Given the description of an element on the screen output the (x, y) to click on. 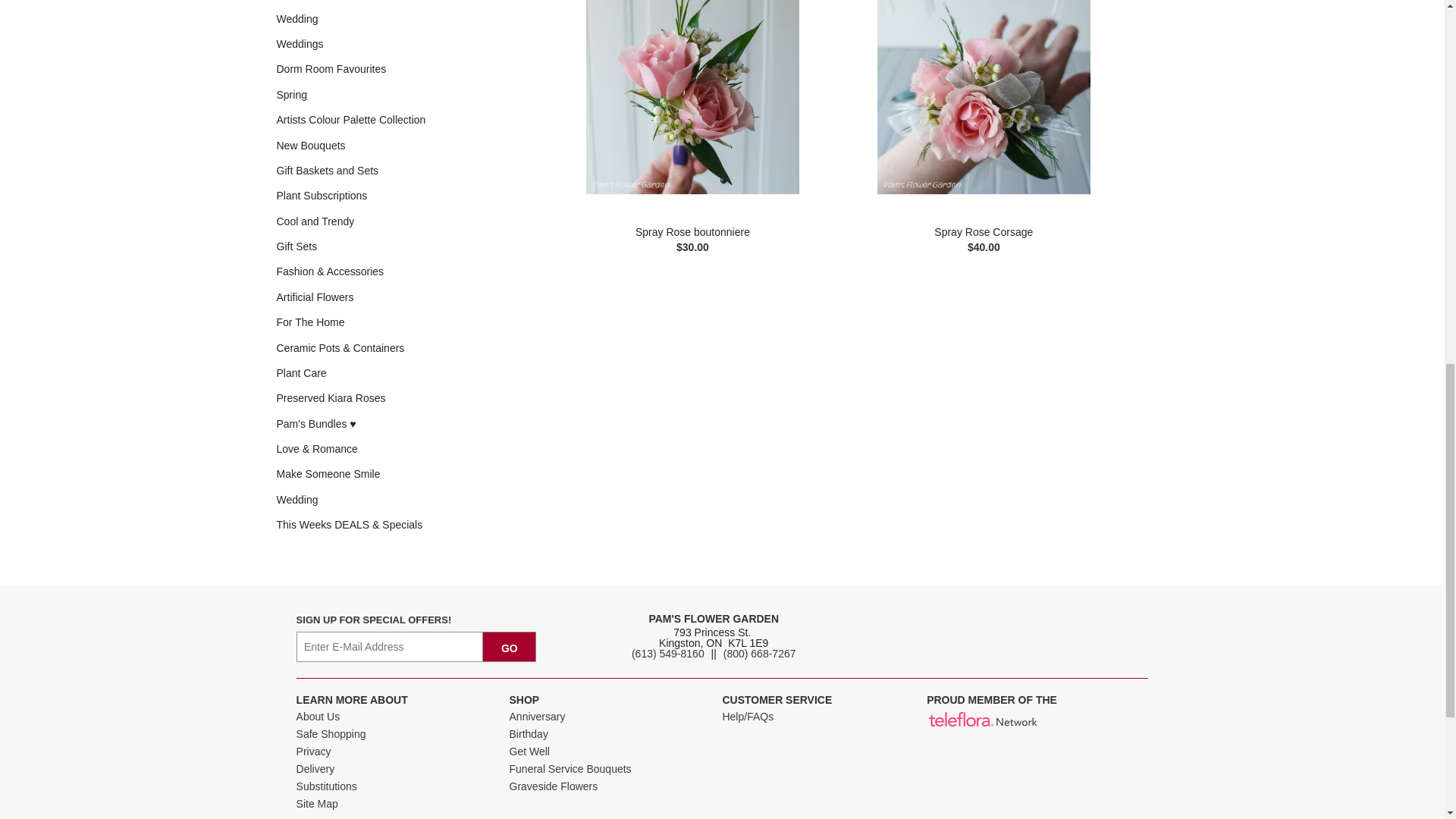
Email Sign up (390, 646)
go (509, 646)
Go (509, 646)
